Given the description of an element on the screen output the (x, y) to click on. 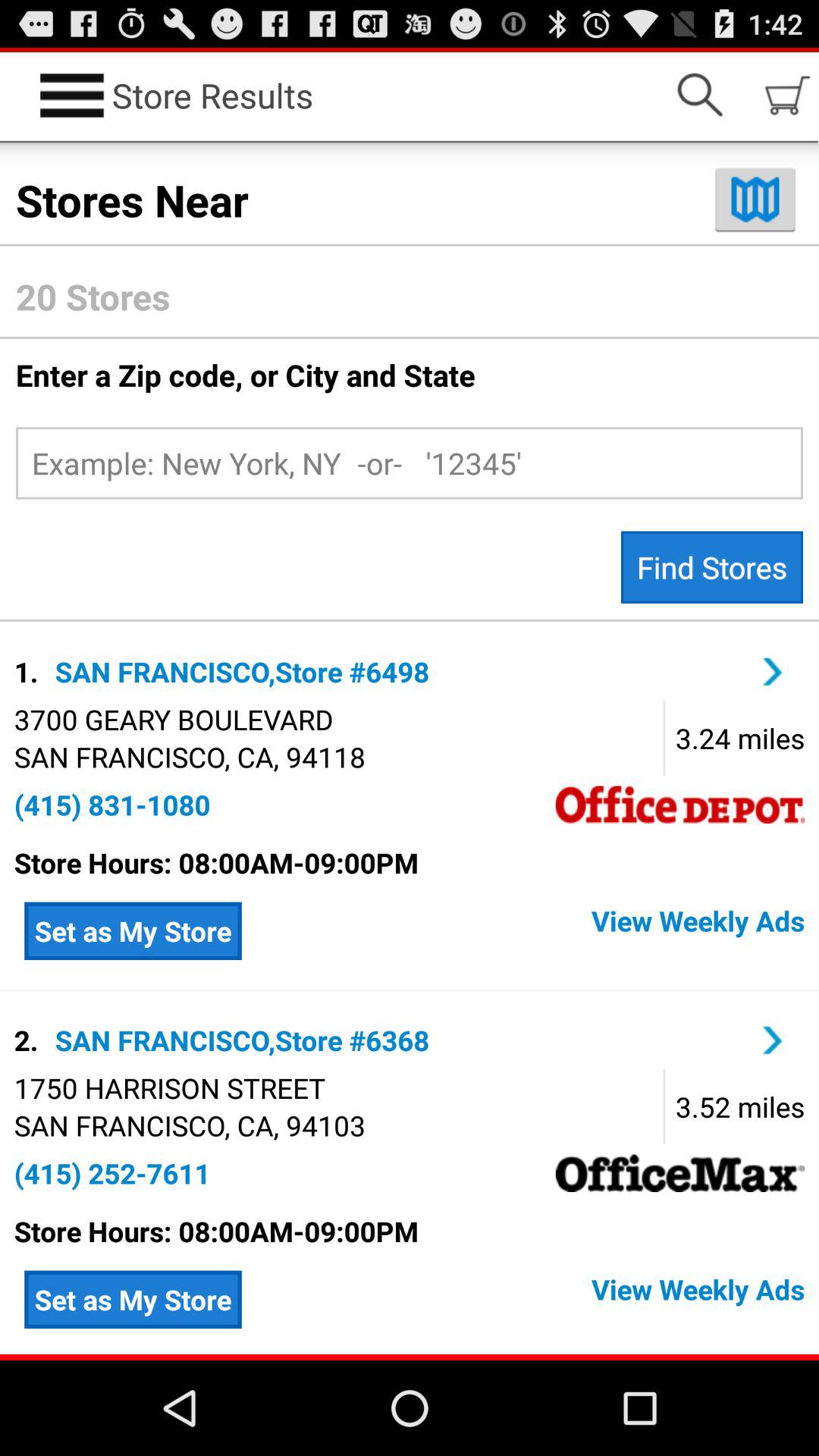
open a map (755, 199)
